Given the description of an element on the screen output the (x, y) to click on. 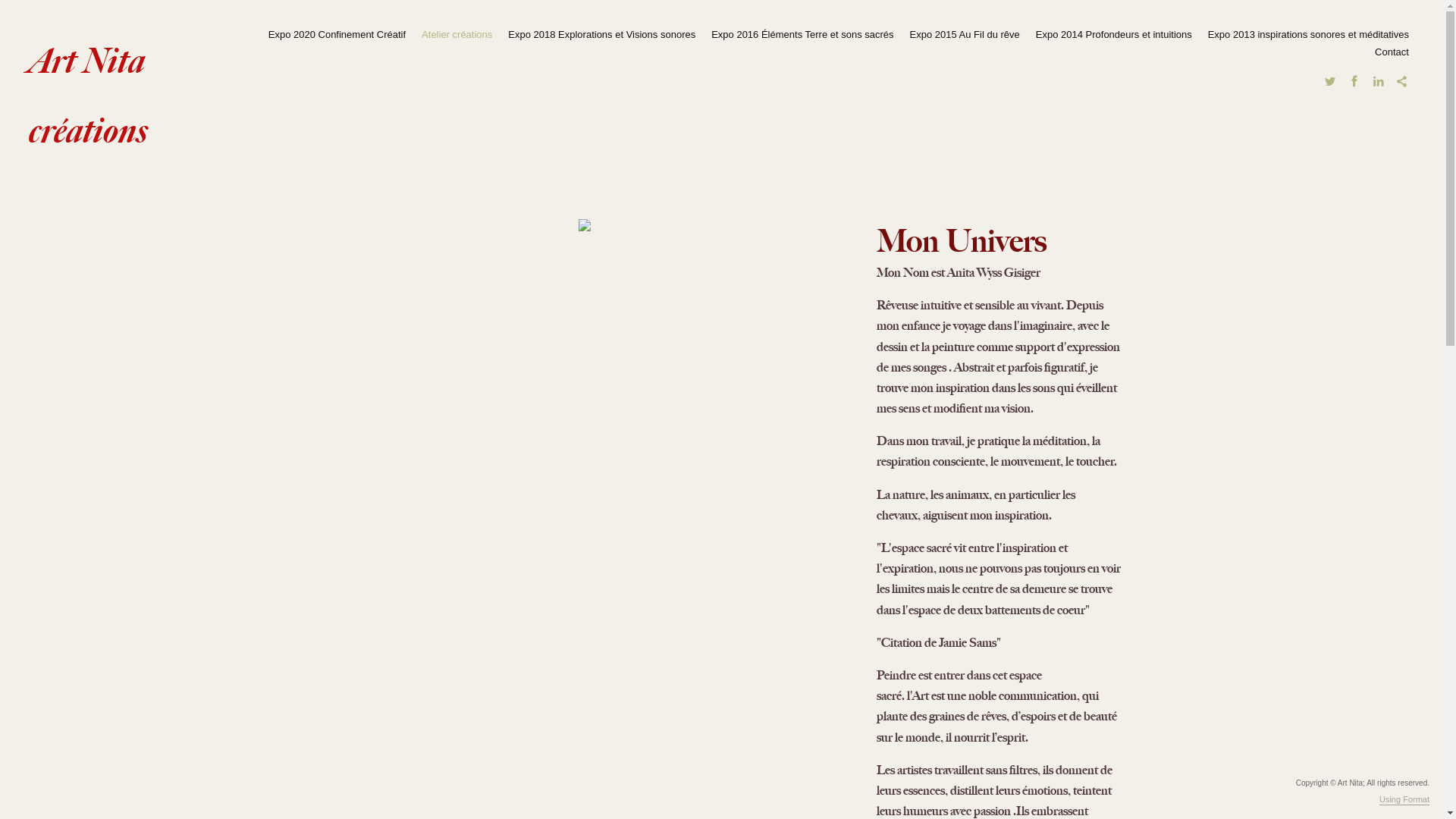
Expo 2018 Explorations et Visions sonores Element type: text (601, 34)
Contact Element type: text (1392, 51)
Twitter Element type: hover (1330, 81)
LinkedIn Element type: hover (1378, 81)
Facebook Element type: hover (1354, 81)
Using Format Element type: text (1404, 799)
Share this page Element type: hover (1402, 81)
Expo 2014 Profondeurs et intuitions Element type: text (1113, 34)
